Given the description of an element on the screen output the (x, y) to click on. 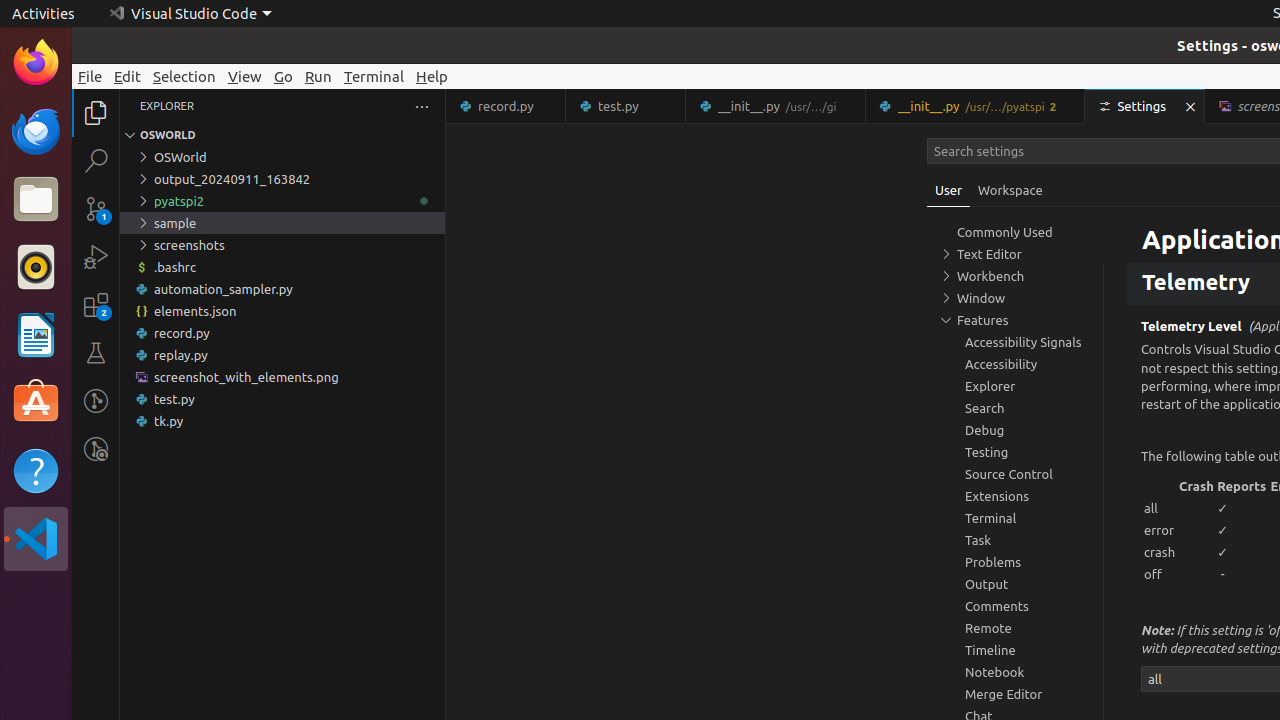
Comments, group Element type: tree-item (1015, 606)
all Element type: table-cell (1160, 507)
crash Element type: table-cell (1160, 552)
OSWorld Element type: tree-item (282, 157)
